Given the description of an element on the screen output the (x, y) to click on. 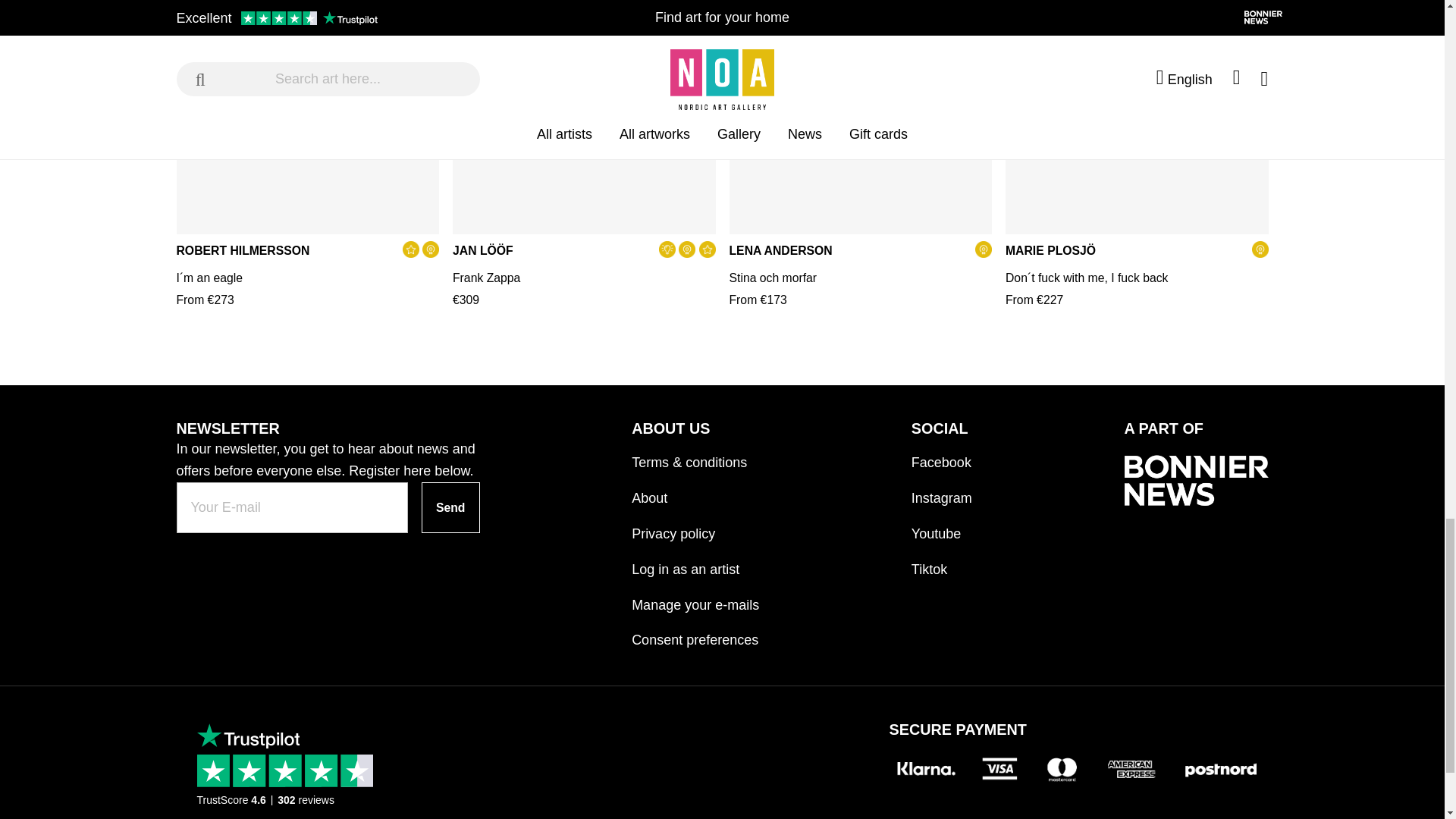
Log in as an artist (694, 562)
Privacy policy (694, 527)
Manage your e-mails (694, 598)
About (694, 491)
